Given the description of an element on the screen output the (x, y) to click on. 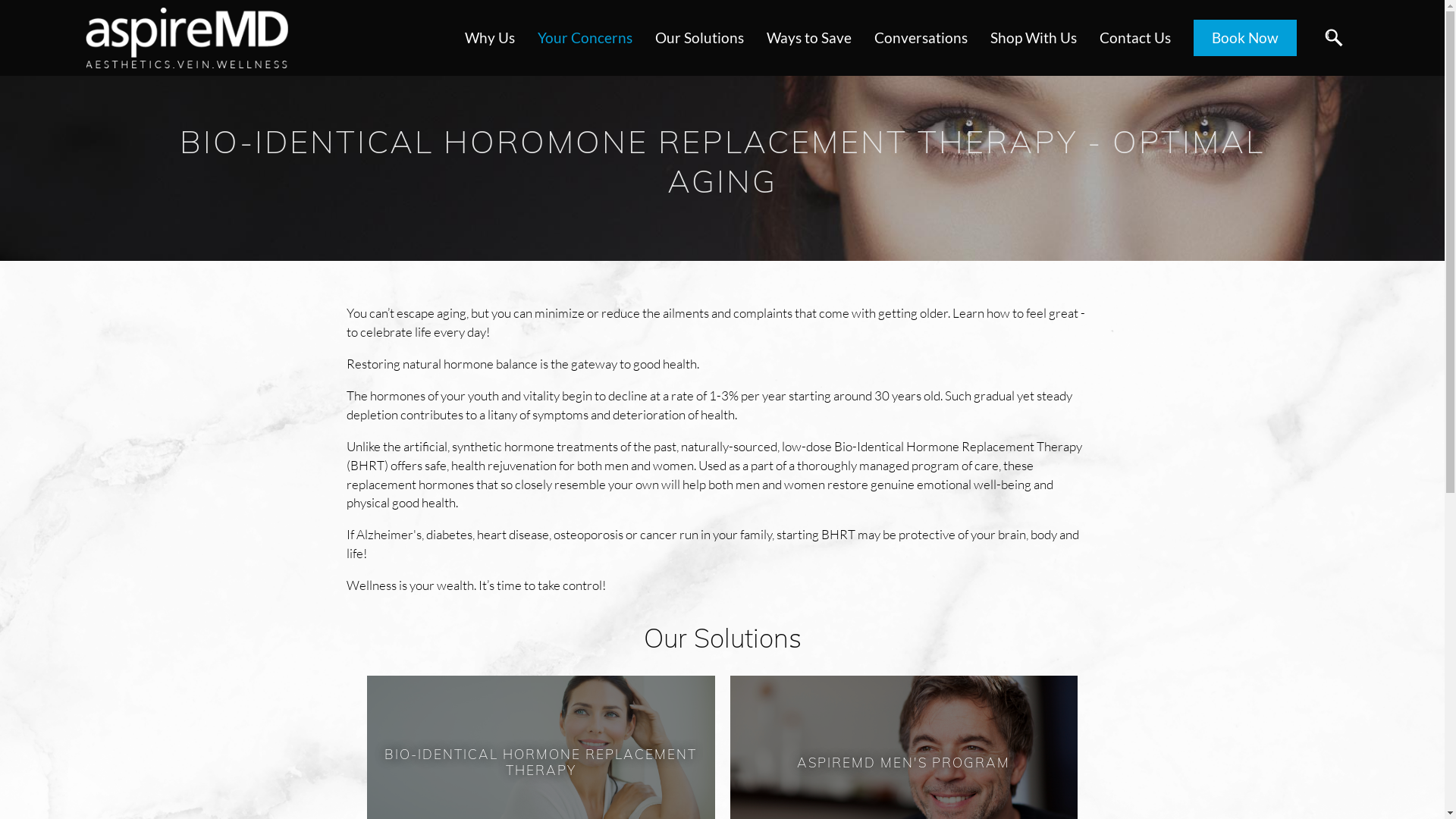
Your Concerns Element type: text (584, 37)
Conversations Element type: text (920, 37)
Why Us Element type: text (489, 37)
Book Now Element type: text (1244, 37)
Our Solutions Element type: text (698, 37)
Contact Us Element type: text (1134, 37)
Ways to Save Element type: text (808, 37)
Search Element type: text (1332, 39)
Shop With Us Element type: text (1032, 37)
